Given the description of an element on the screen output the (x, y) to click on. 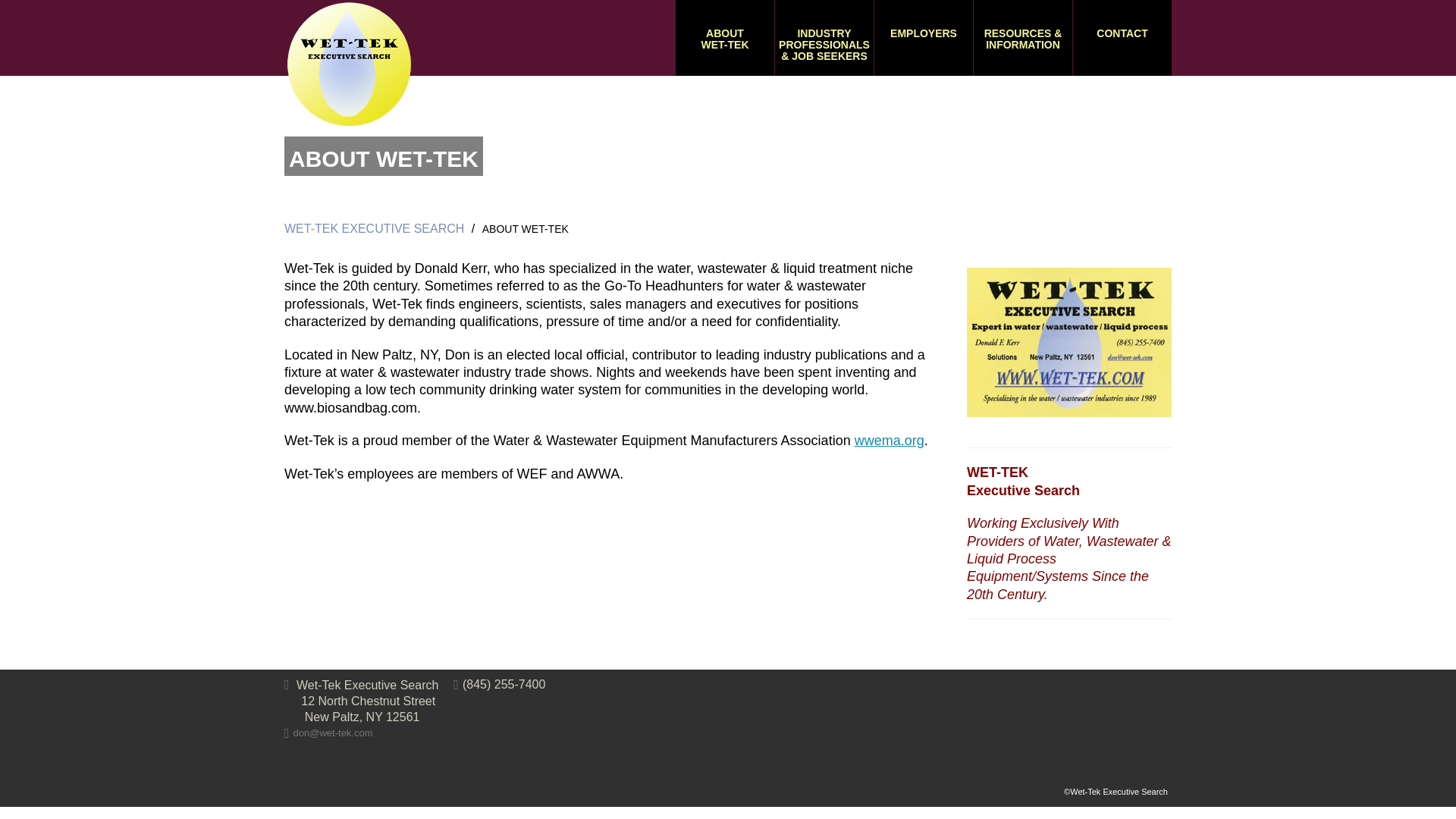
CONTACT (1122, 38)
wwema.org (889, 440)
EMPLOYERS (923, 38)
WET-TEK EXECUTIVE SEARCH (373, 228)
